Given the description of an element on the screen output the (x, y) to click on. 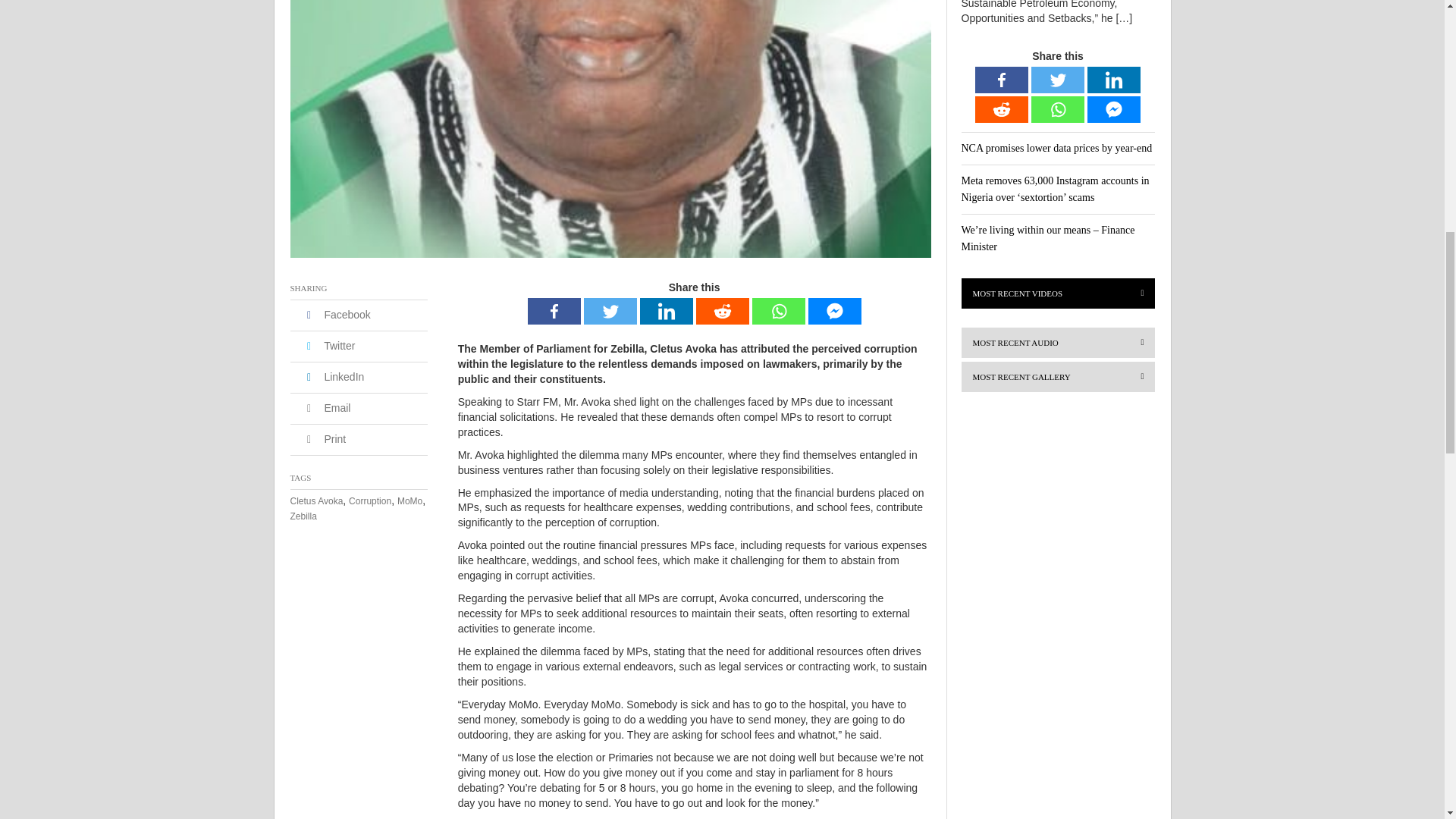
Linkedin (666, 311)
Whatsapp (778, 311)
Twitter (610, 311)
Reddit (722, 311)
Facebook (553, 311)
